Given the description of an element on the screen output the (x, y) to click on. 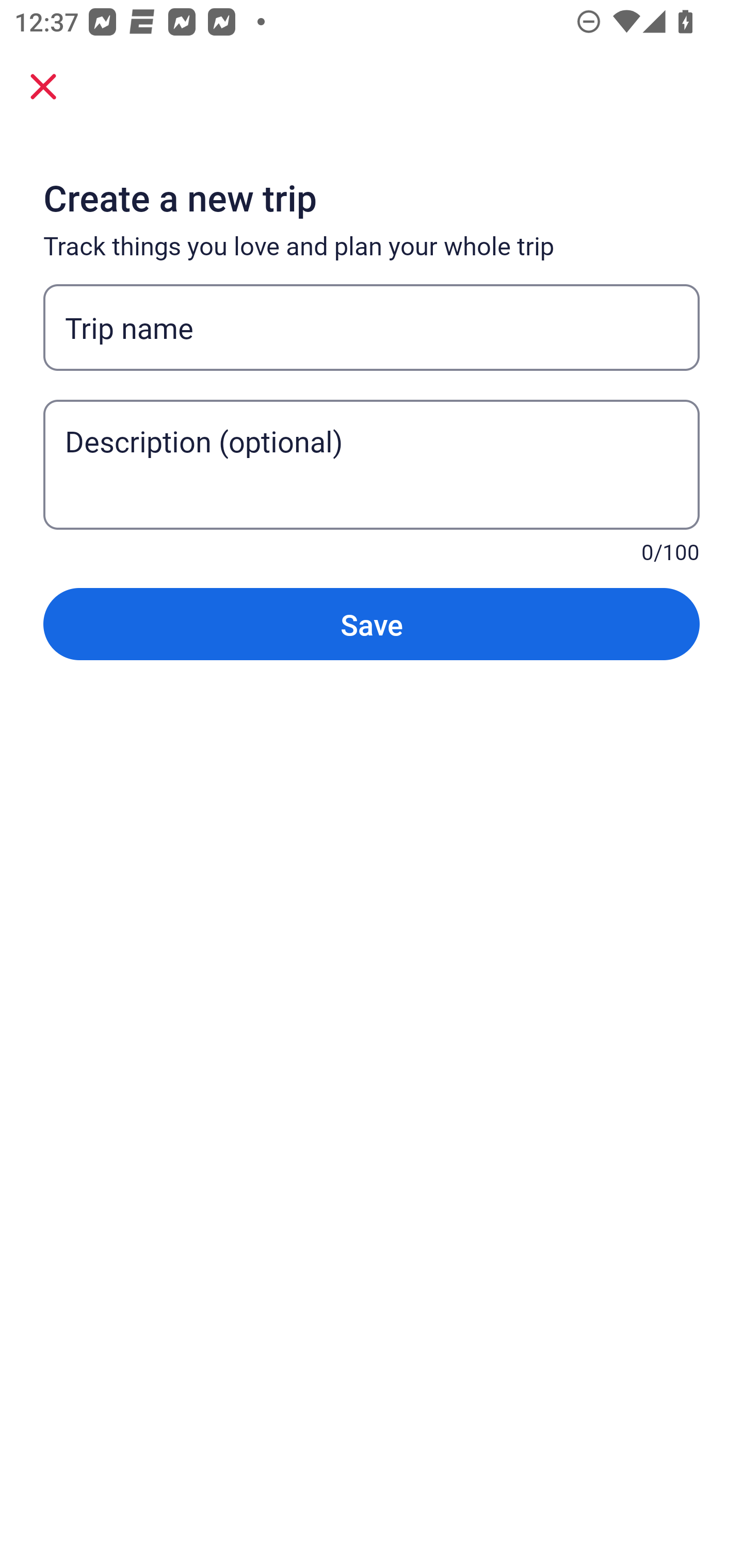
Close (43, 86)
Trip name (371, 327)
Save Button Save (371, 624)
